Given the description of an element on the screen output the (x, y) to click on. 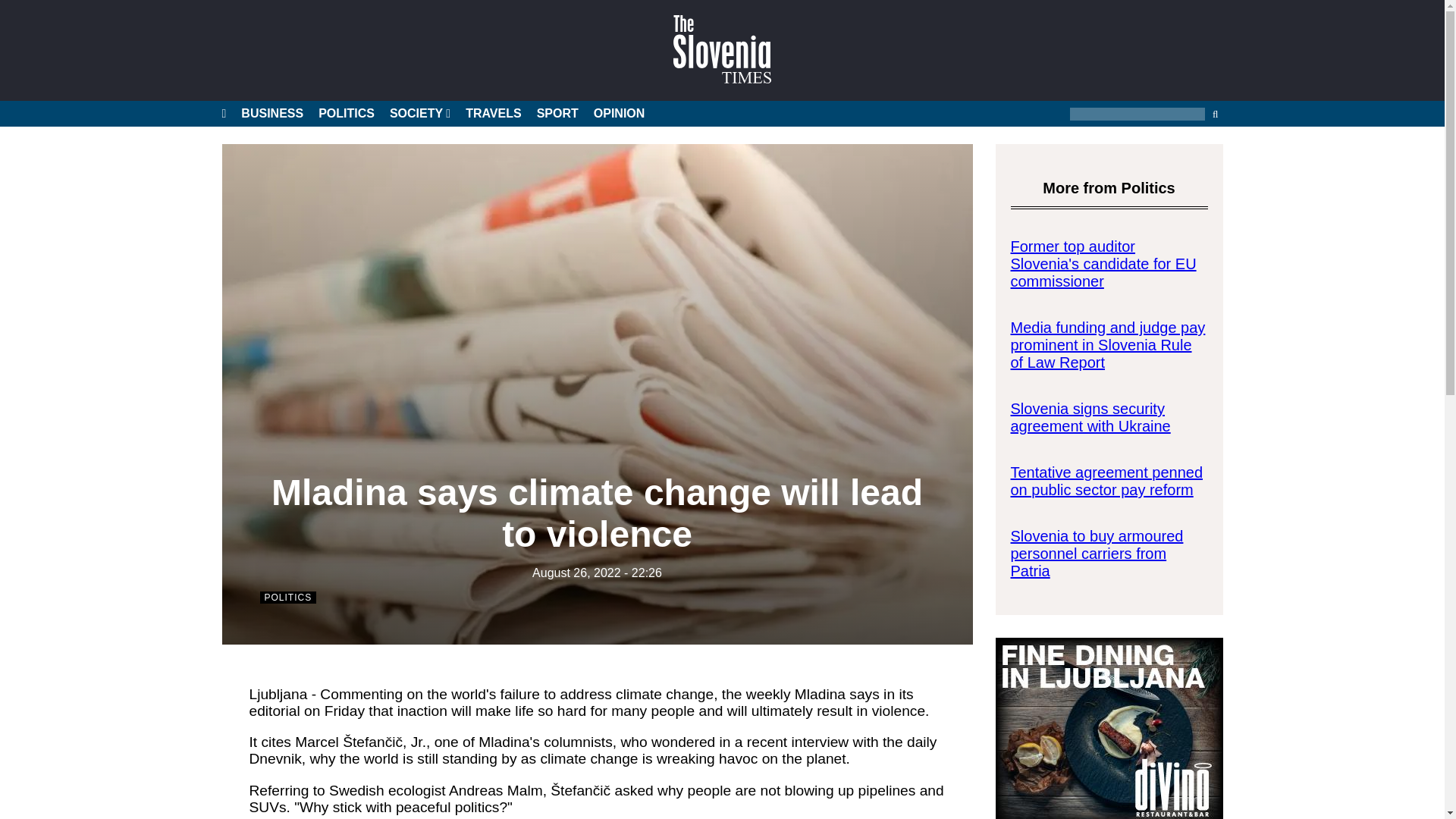
Tentative agreement penned on public sector pay reform (1106, 480)
POLITICS (346, 113)
OPINION (619, 113)
SPORT (557, 113)
Slovenia to buy armoured personnel carriers from Patria (1096, 553)
Former top auditor Slovenia's candidate for EU commissioner (1102, 263)
BUSINESS (271, 113)
Slovenia signs security agreement with Ukraine (1090, 417)
TRAVELS (493, 113)
